Given the description of an element on the screen output the (x, y) to click on. 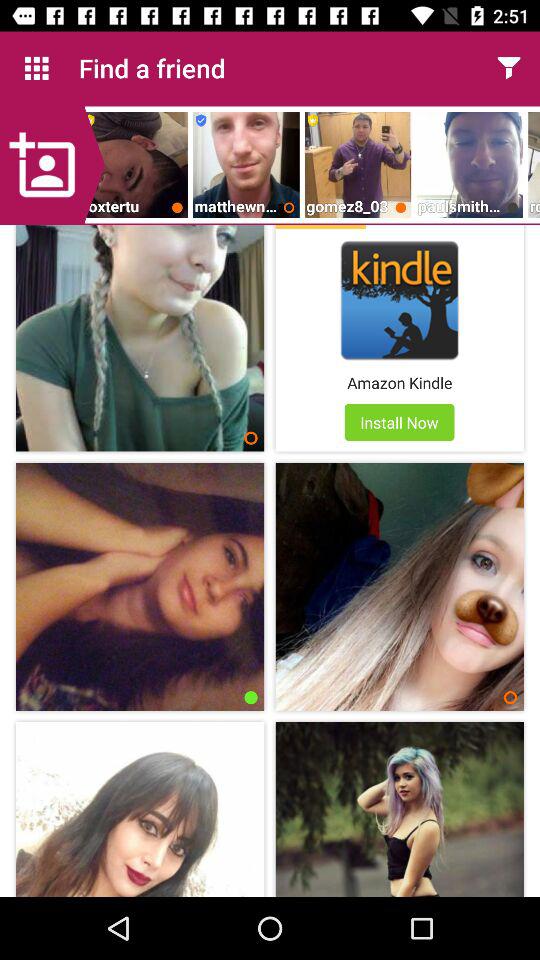
add friend (52, 165)
